Given the description of an element on the screen output the (x, y) to click on. 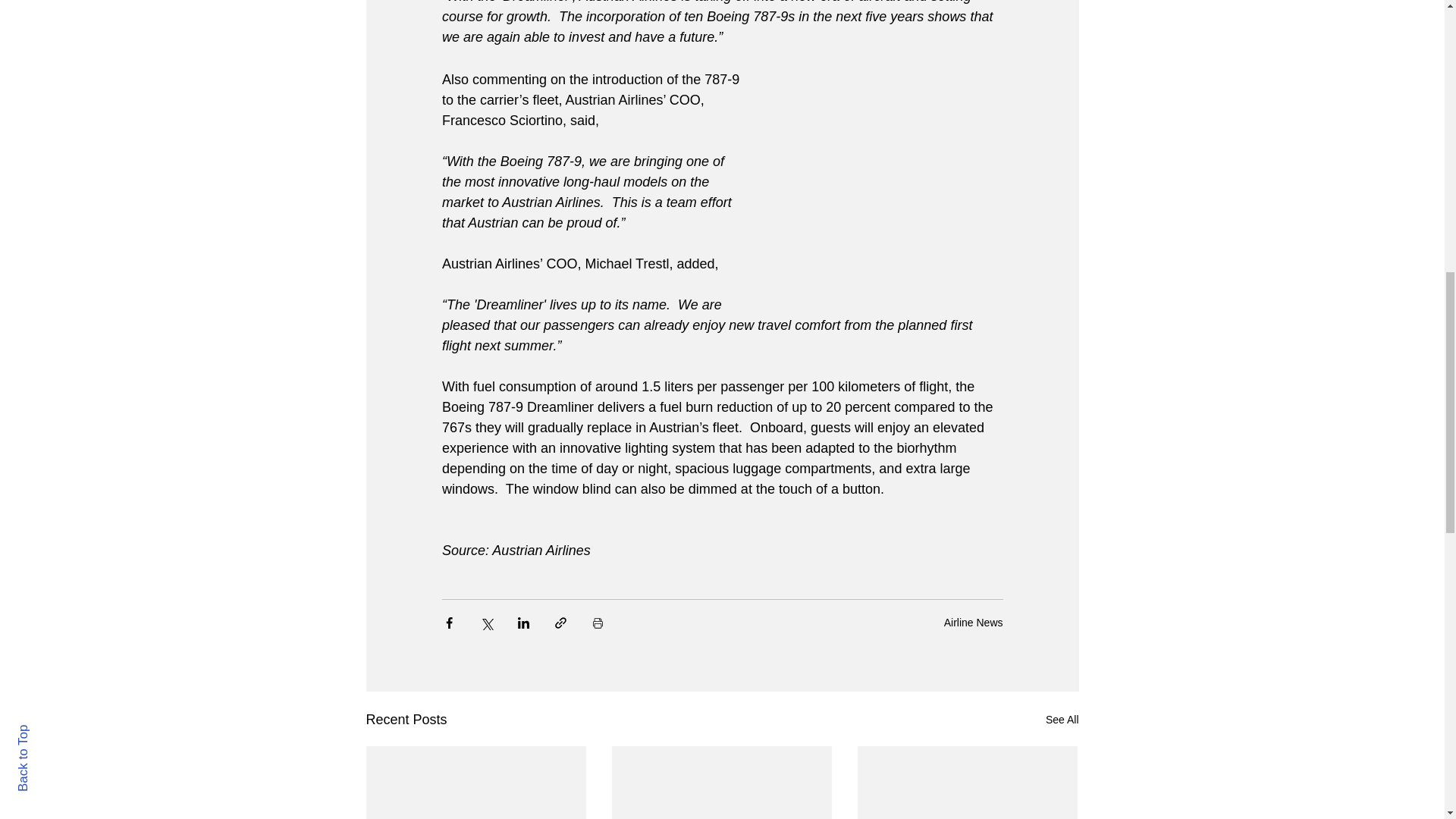
Airline News (973, 621)
See All (1061, 720)
